Given the description of an element on the screen output the (x, y) to click on. 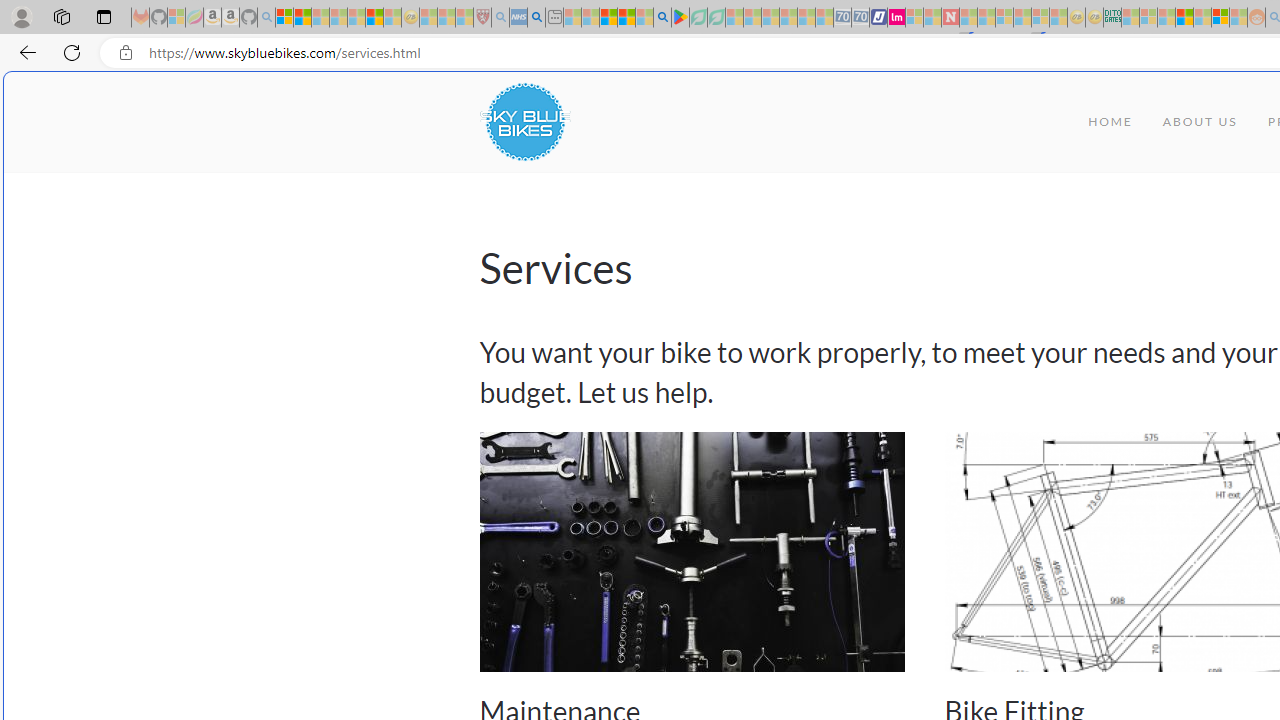
Pets - MSN (626, 17)
ABOUT US (1199, 122)
